Given the description of an element on the screen output the (x, y) to click on. 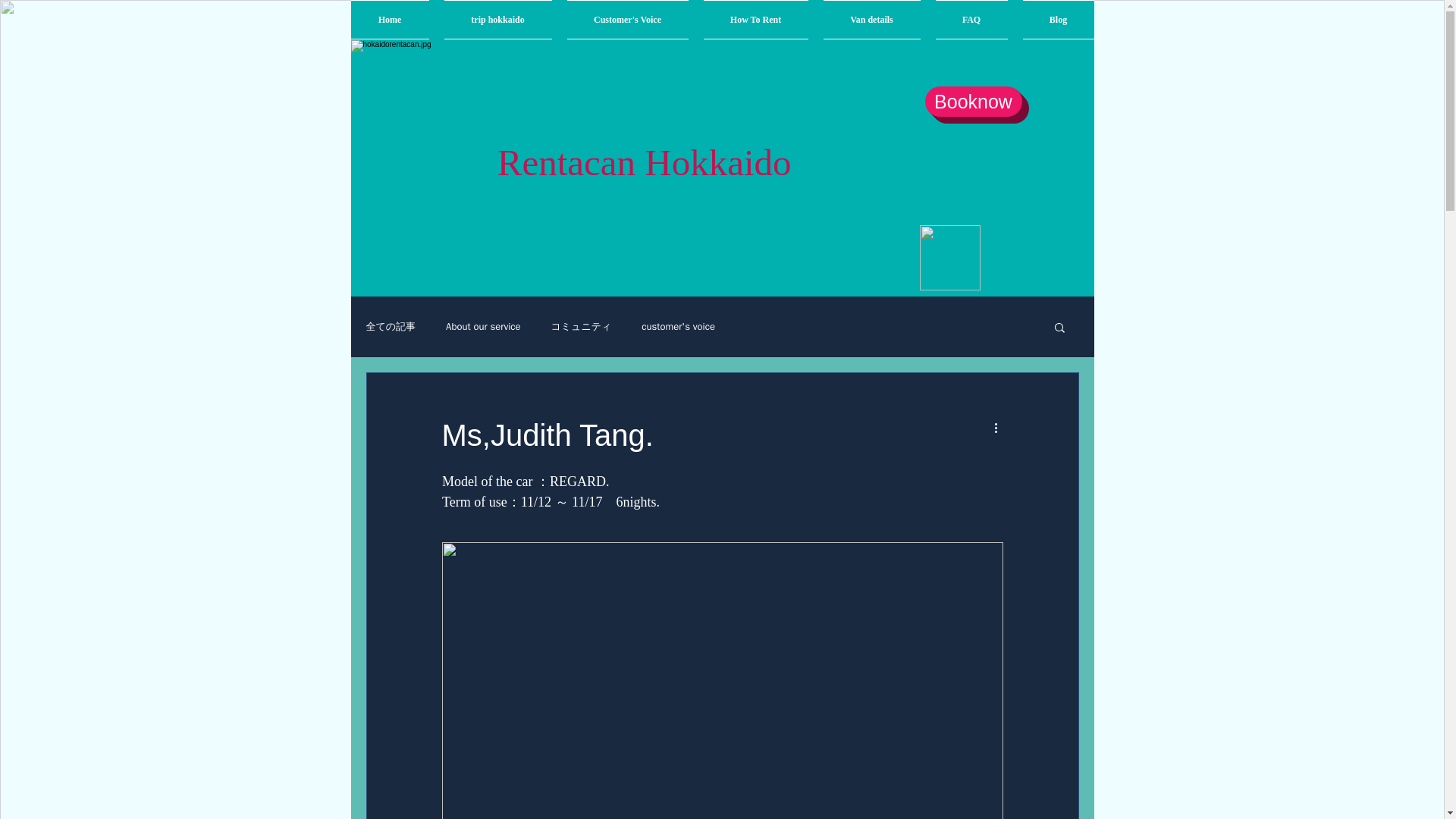
0 (701, 794)
Van details (871, 19)
About our service (482, 326)
0 (450, 535)
Mr,Yongkyeong Jeong. (983, 743)
Home (392, 19)
Booknow (973, 101)
How To Rent (755, 19)
S.M (737, 484)
0 (701, 535)
